Given the description of an element on the screen output the (x, y) to click on. 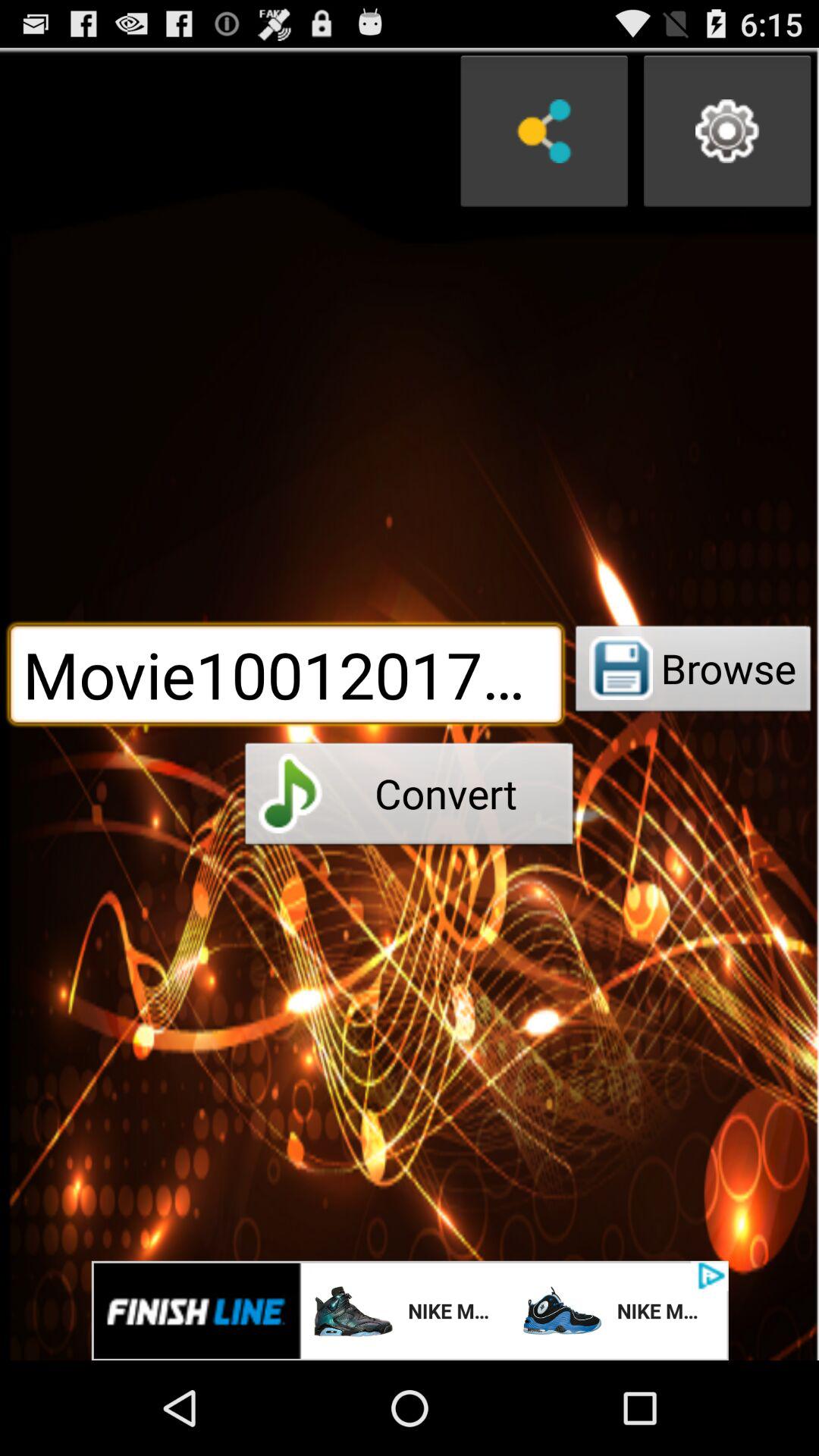
open settings (727, 130)
